Given the description of an element on the screen output the (x, y) to click on. 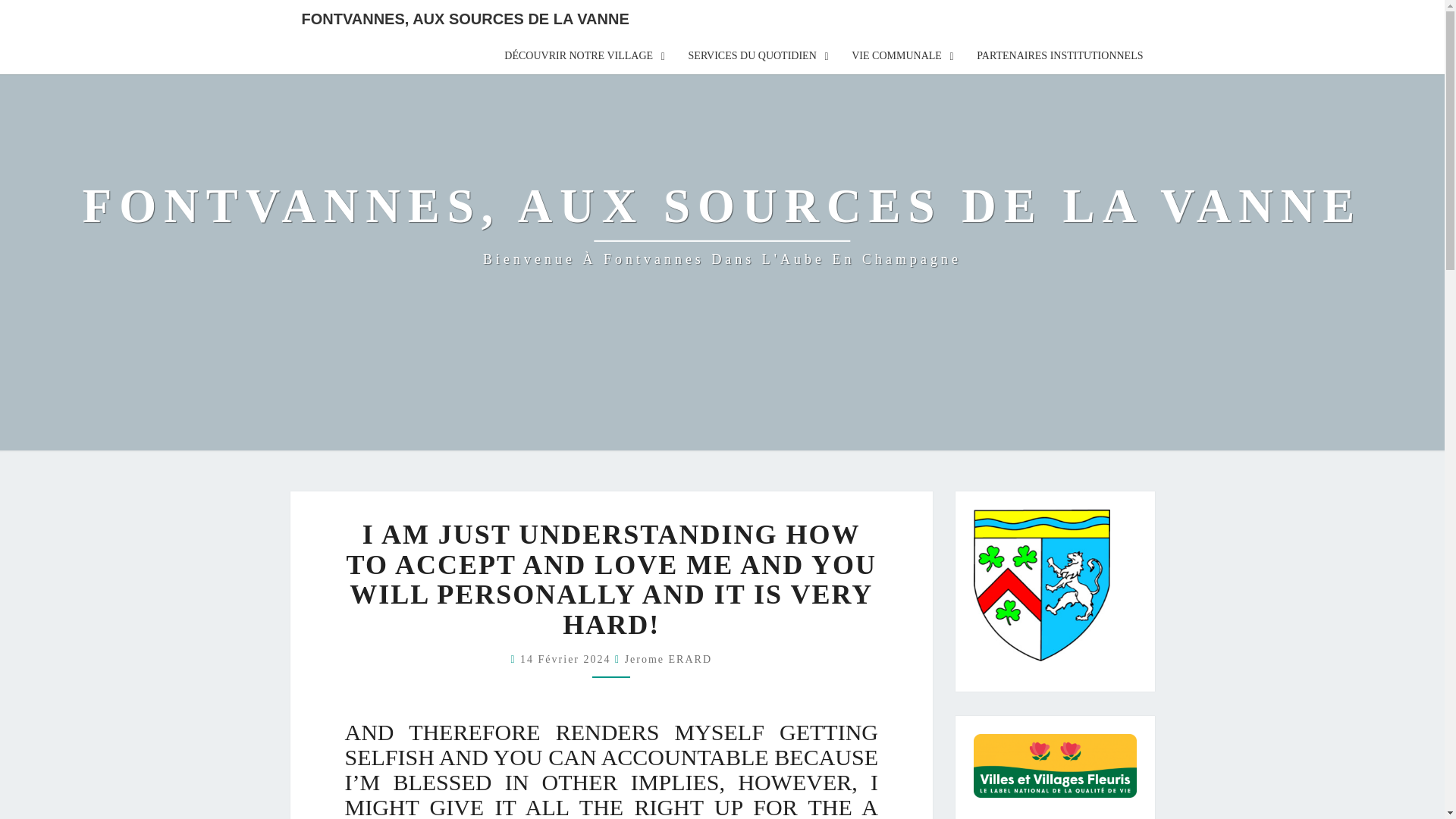
Jerome ERARD (667, 659)
FONTVANNES, AUX SOURCES DE LA VANNE (464, 18)
Fontvannes, aux sources de la Vanne (721, 225)
PARTENAIRES INSTITUTIONNELS (1059, 55)
VIE COMMUNALE (902, 55)
Voir tous les articles de  Jerome ERARD (667, 659)
SERVICES DU QUOTIDIEN (759, 55)
9 h 45 min (566, 659)
